Given the description of an element on the screen output the (x, y) to click on. 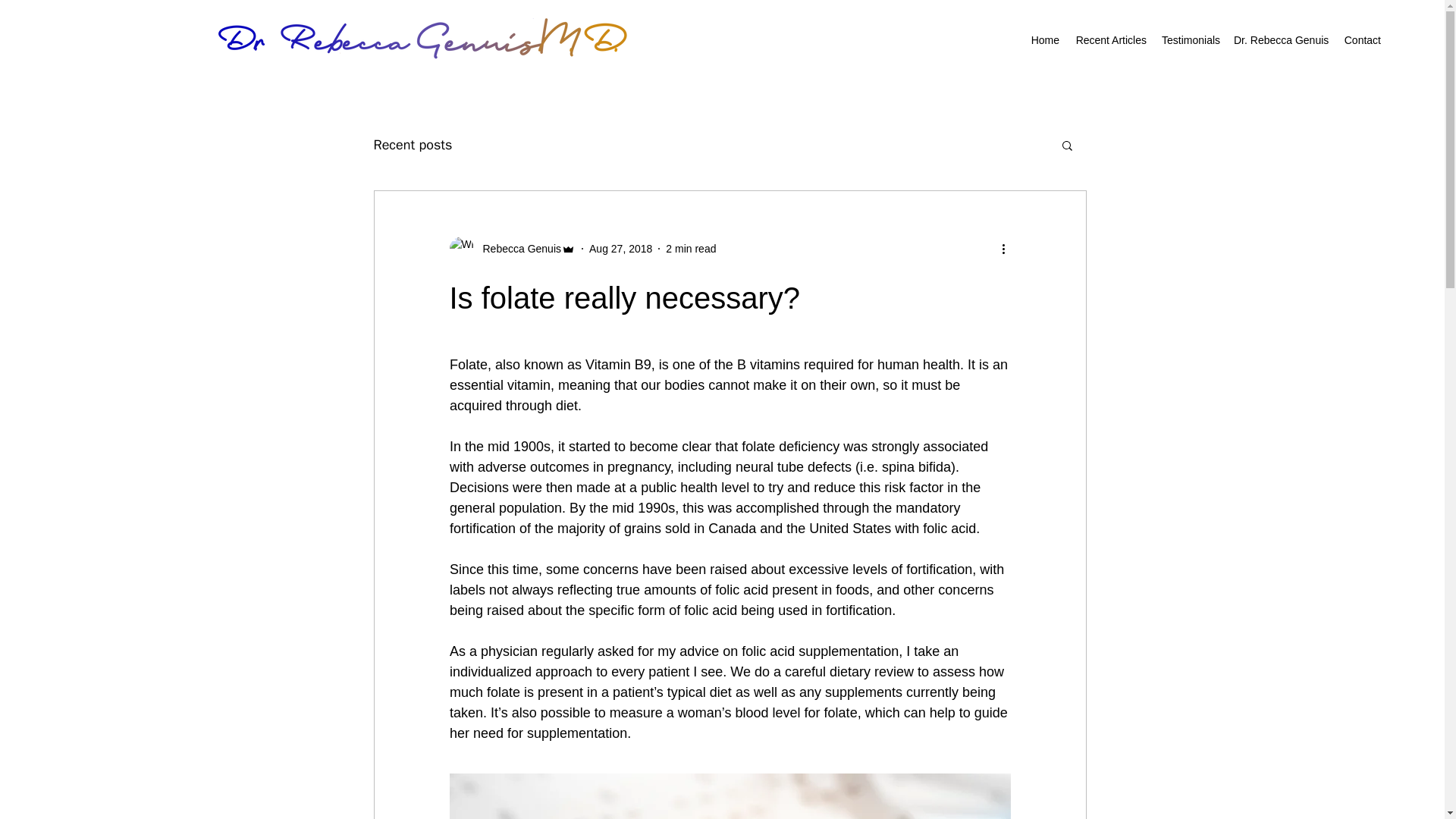
Contact (1362, 40)
Dr. Rebecca Genuis (1280, 40)
Home (1045, 40)
Recent posts (411, 144)
2 min read (690, 248)
Recent Articles (1110, 40)
Testimonials (1189, 40)
Aug 27, 2018 (620, 248)
Rebecca Genuis (516, 248)
